Given the description of an element on the screen output the (x, y) to click on. 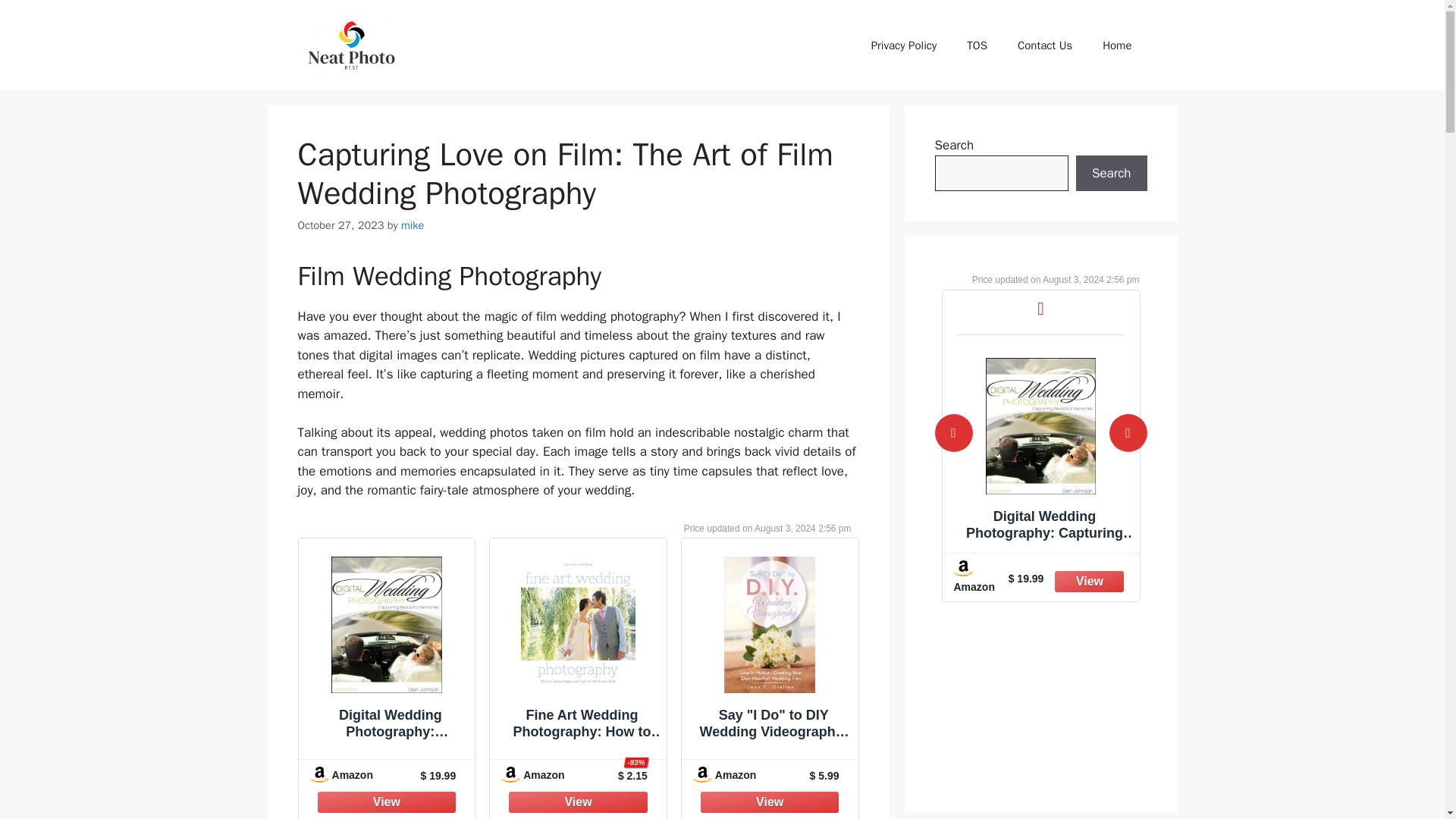
Contact Us (1045, 44)
Privacy Policy (904, 44)
View all posts by mike (412, 224)
TOS (977, 44)
Home (1117, 44)
mike (412, 224)
